Given the description of an element on the screen output the (x, y) to click on. 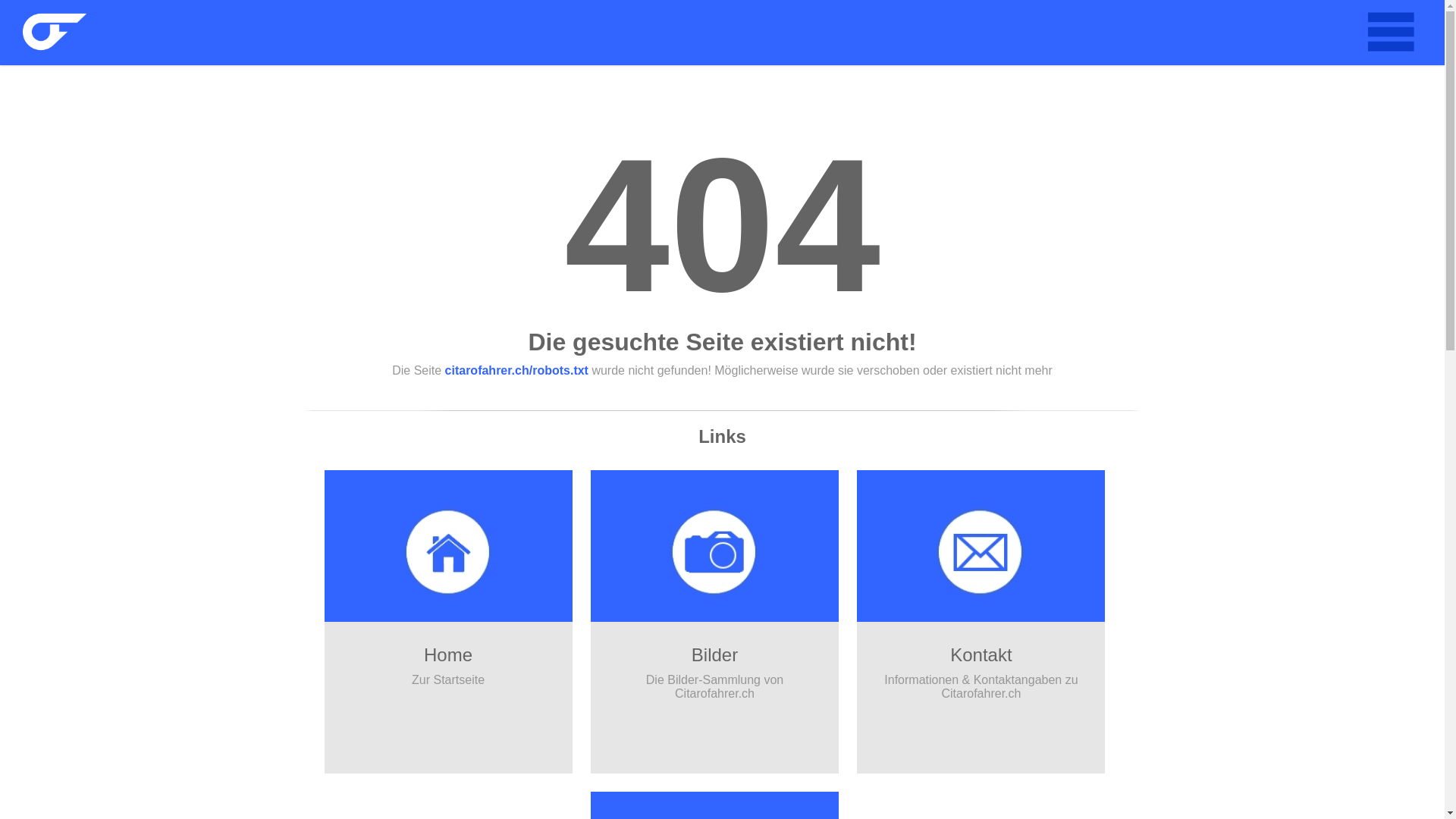
Citarofahrer.CH Element type: hover (54, 32)
Kontakt
Informationen & Kontaktangaben zu Citarofahrer.ch Element type: text (980, 621)
menu Element type: hover (1389, 32)
Bilder
Die Bilder-Sammlung von Citarofahrer.ch Element type: text (714, 621)
citarofahrer.ch/robots.txt Element type: text (516, 370)
Home
Zur Startseite Element type: text (448, 621)
